Given the description of an element on the screen output the (x, y) to click on. 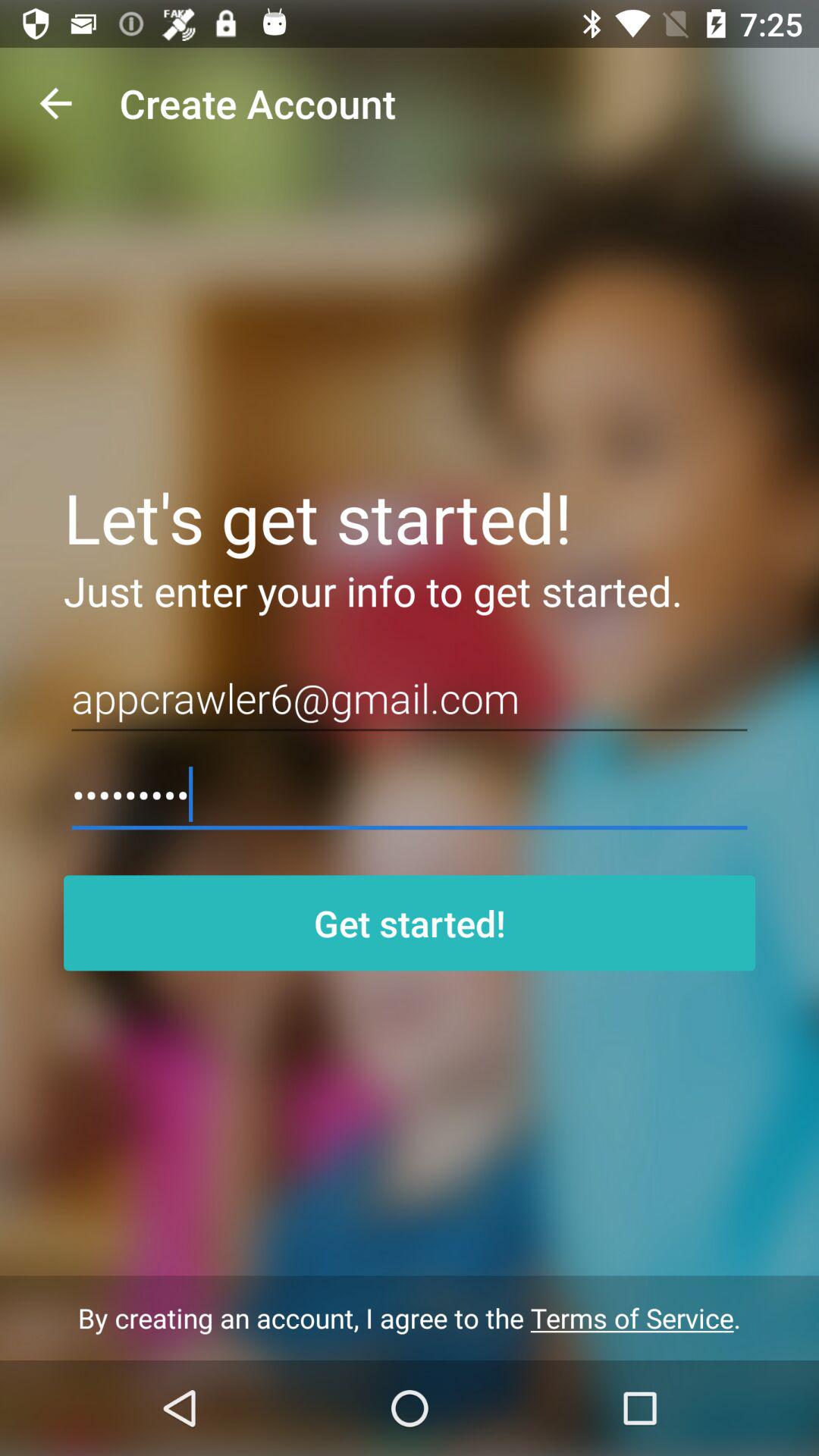
launch the appcrawler6@gmail.com item (409, 698)
